Given the description of an element on the screen output the (x, y) to click on. 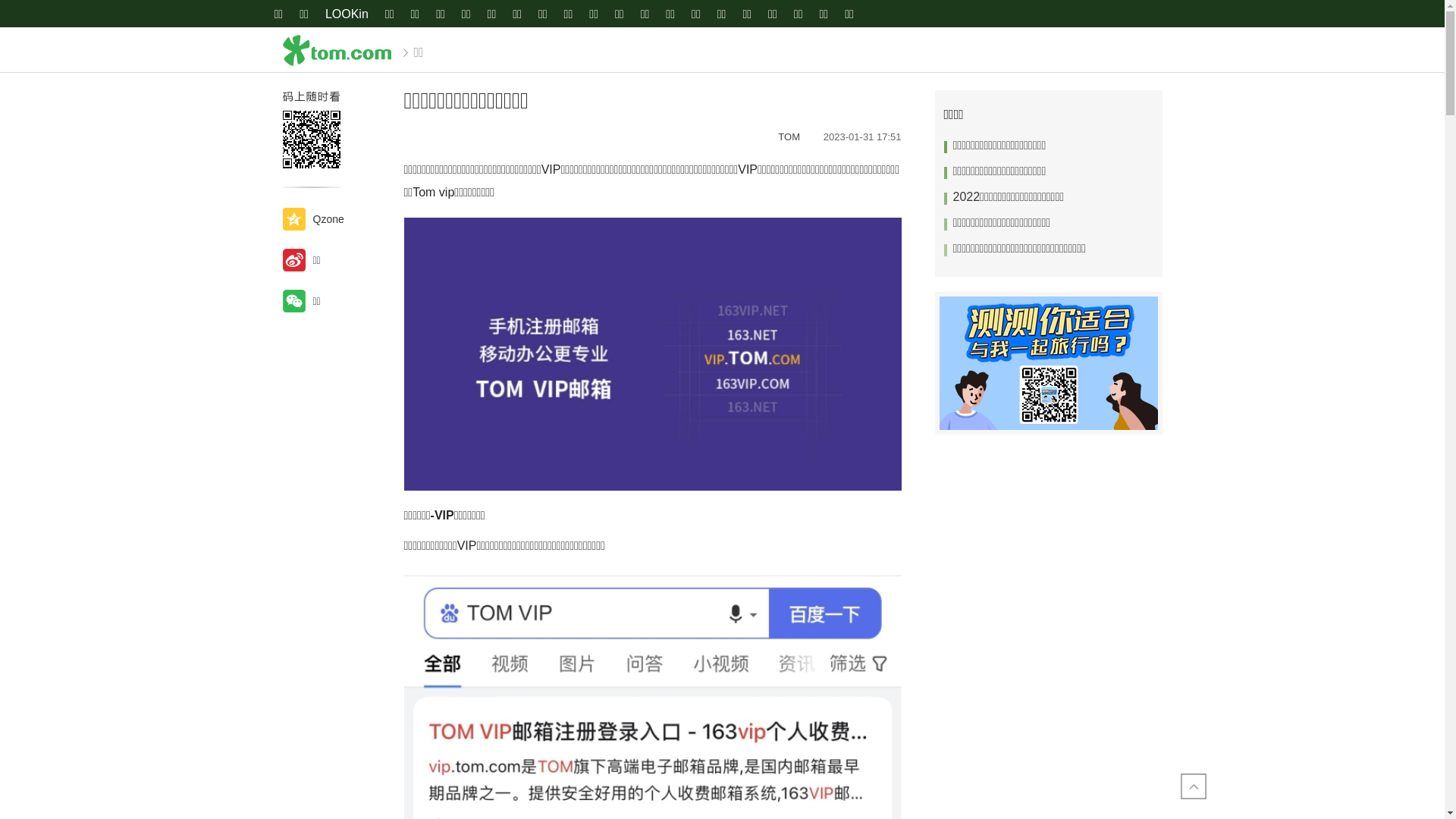
image Element type: hover (651, 354)
https://163vip.com/news/202301/3688125655.html Element type: hover (312, 139)
LOOKin Element type: text (346, 14)
TOM    Element type: text (792, 136)
